Given the description of an element on the screen output the (x, y) to click on. 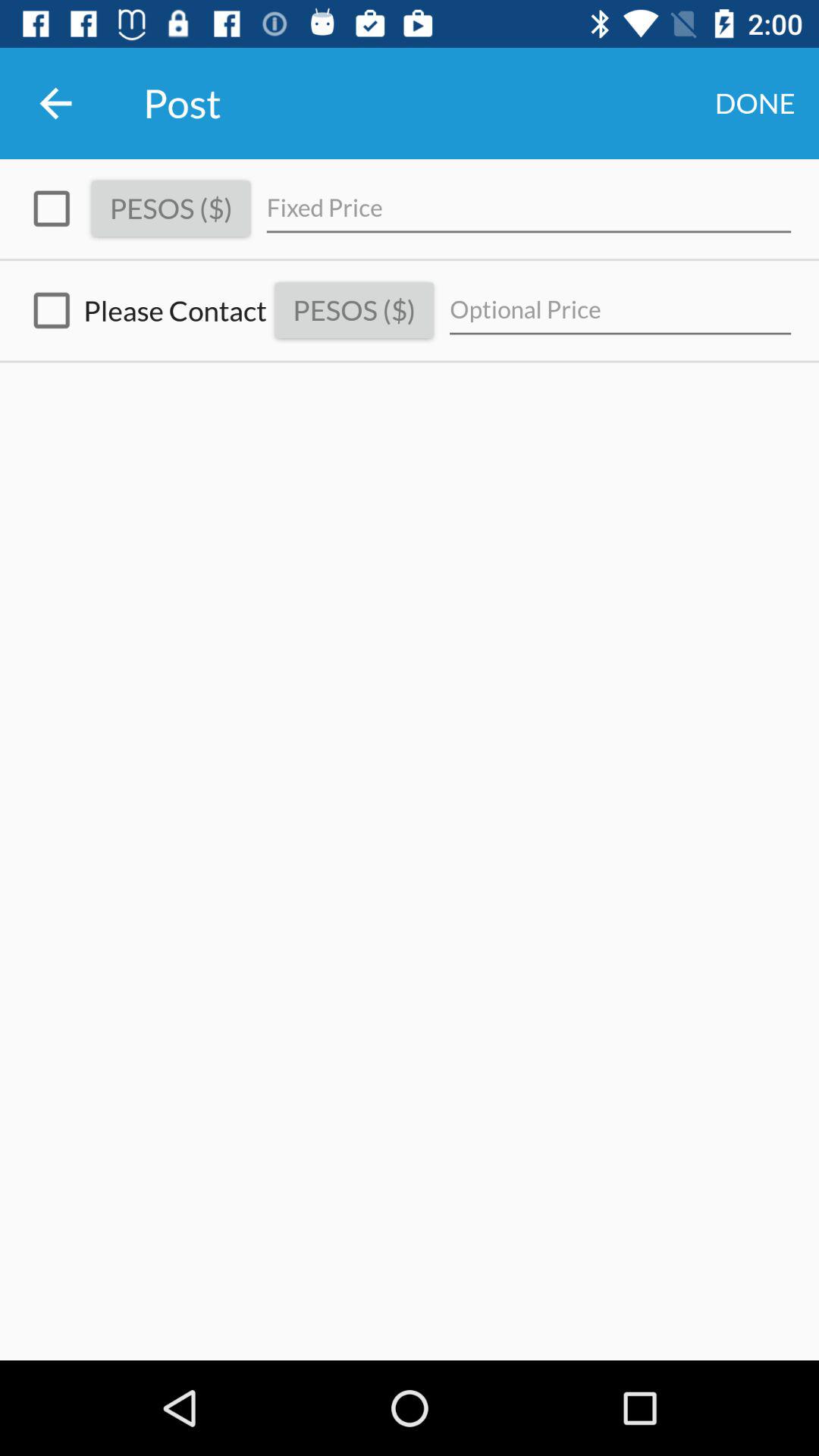
choose icon to the left of the pesos ($) (142, 310)
